Given the description of an element on the screen output the (x, y) to click on. 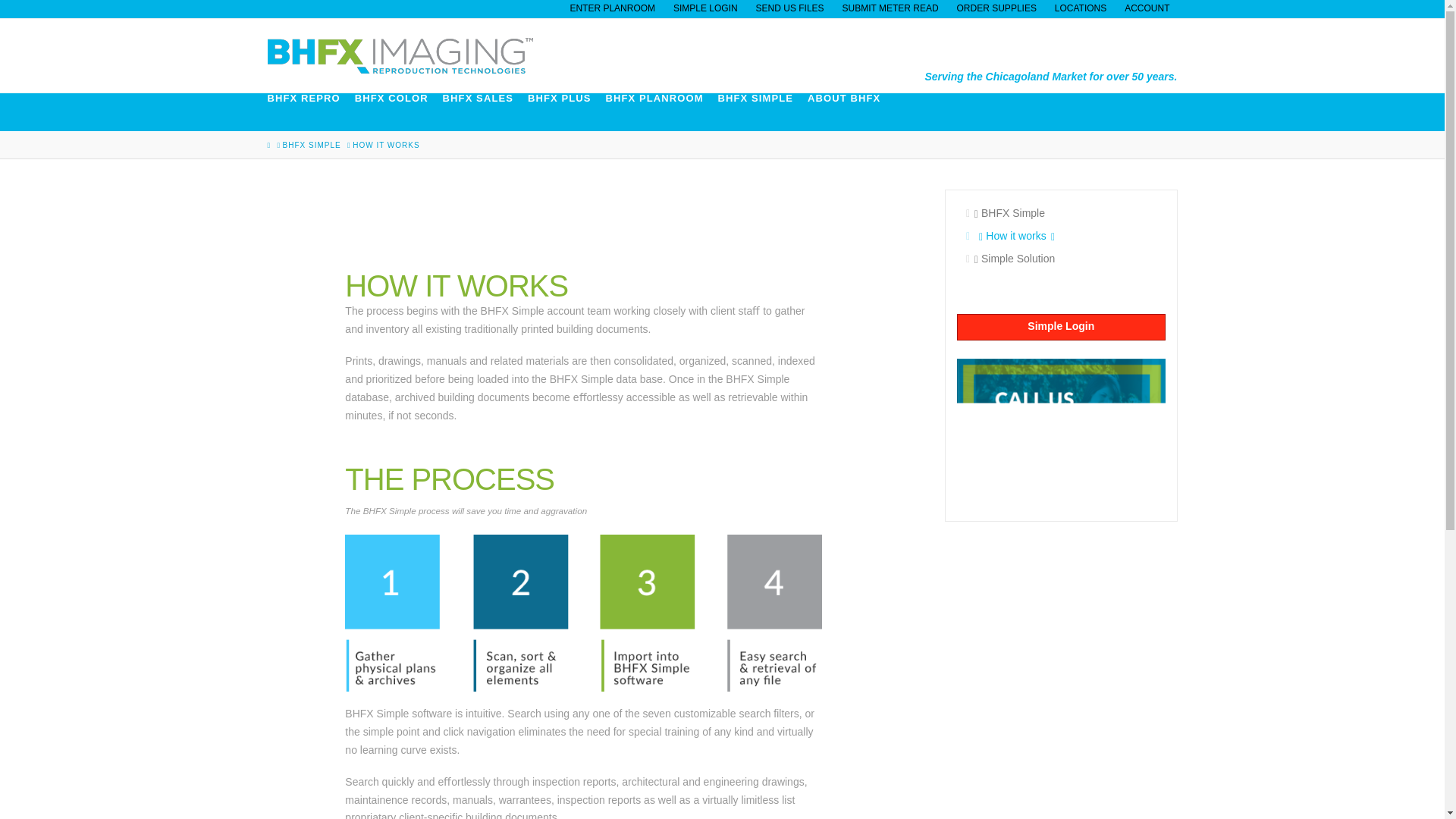
BHFX SIMPLE (762, 112)
ABOUT BHFX (851, 112)
SIMPLE LOGIN (705, 7)
You Are Here (385, 145)
SUBMIT METER READ (891, 7)
LOCATIONS (1080, 7)
BHFX SALES (484, 112)
ORDER SUPPLIES (996, 7)
Simple Login (1060, 326)
ACCOUNT (1146, 7)
BHFX REPRO (309, 112)
SEND US FILES (789, 7)
Simple Solution (1060, 258)
ENTER PLANROOM (612, 7)
Serving the Chicagoland Market for over 65 years. (399, 55)
